Given the description of an element on the screen output the (x, y) to click on. 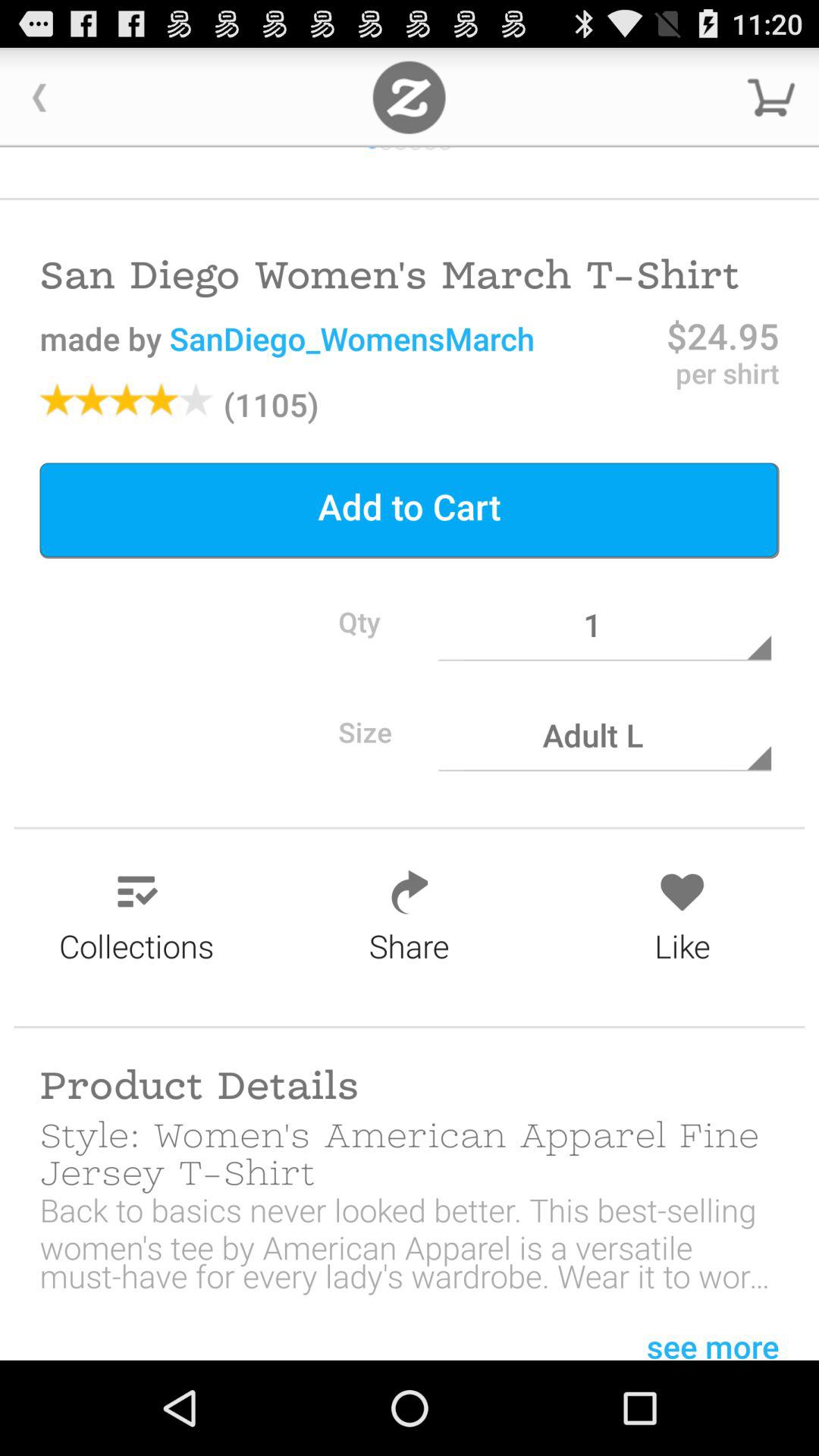
go to their home page (408, 97)
